Given the description of an element on the screen output the (x, y) to click on. 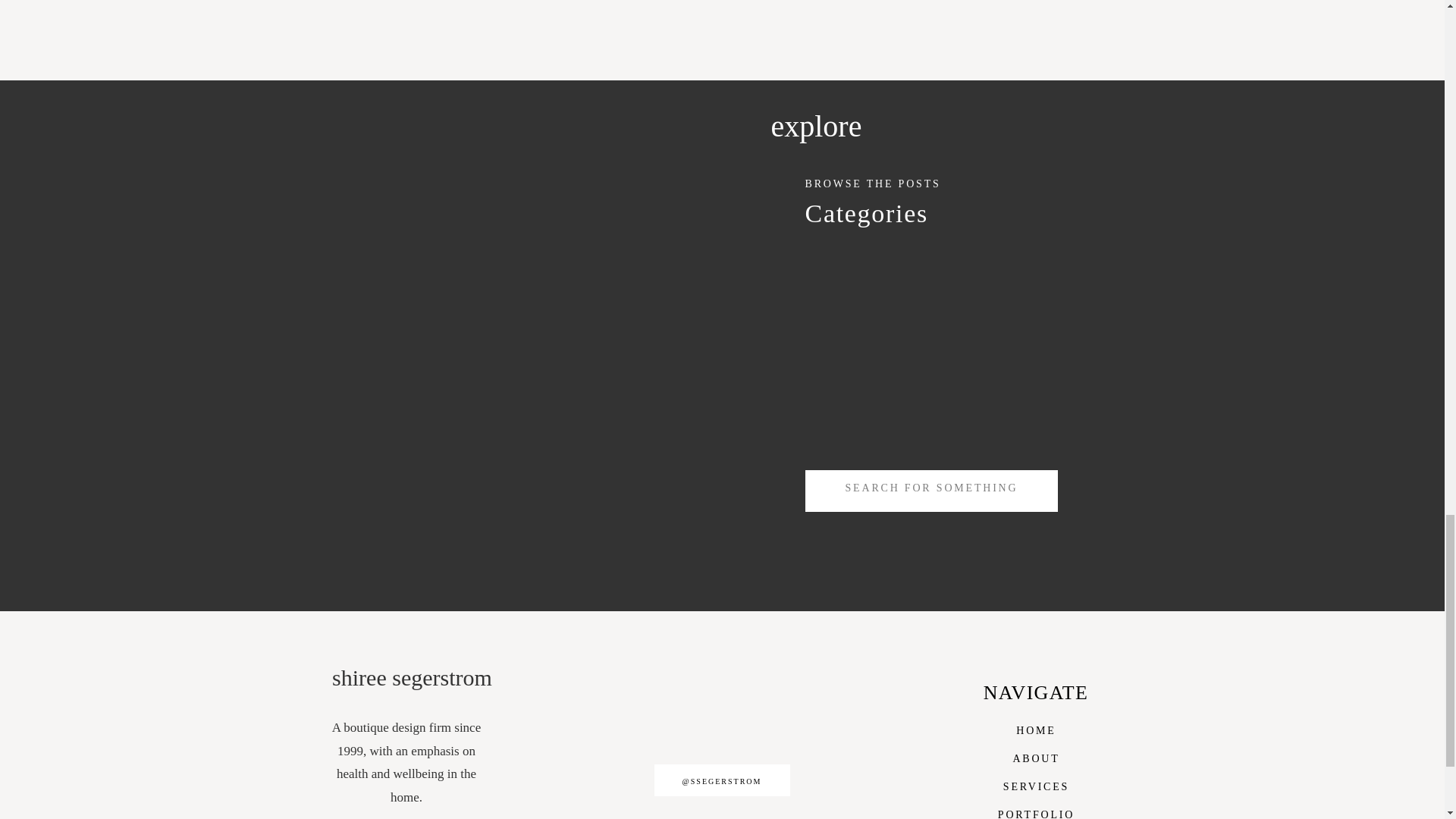
HOME (1035, 729)
PORTFOLIO (1035, 812)
ABOUT (1035, 756)
SERVICES (1035, 785)
